Given the description of an element on the screen output the (x, y) to click on. 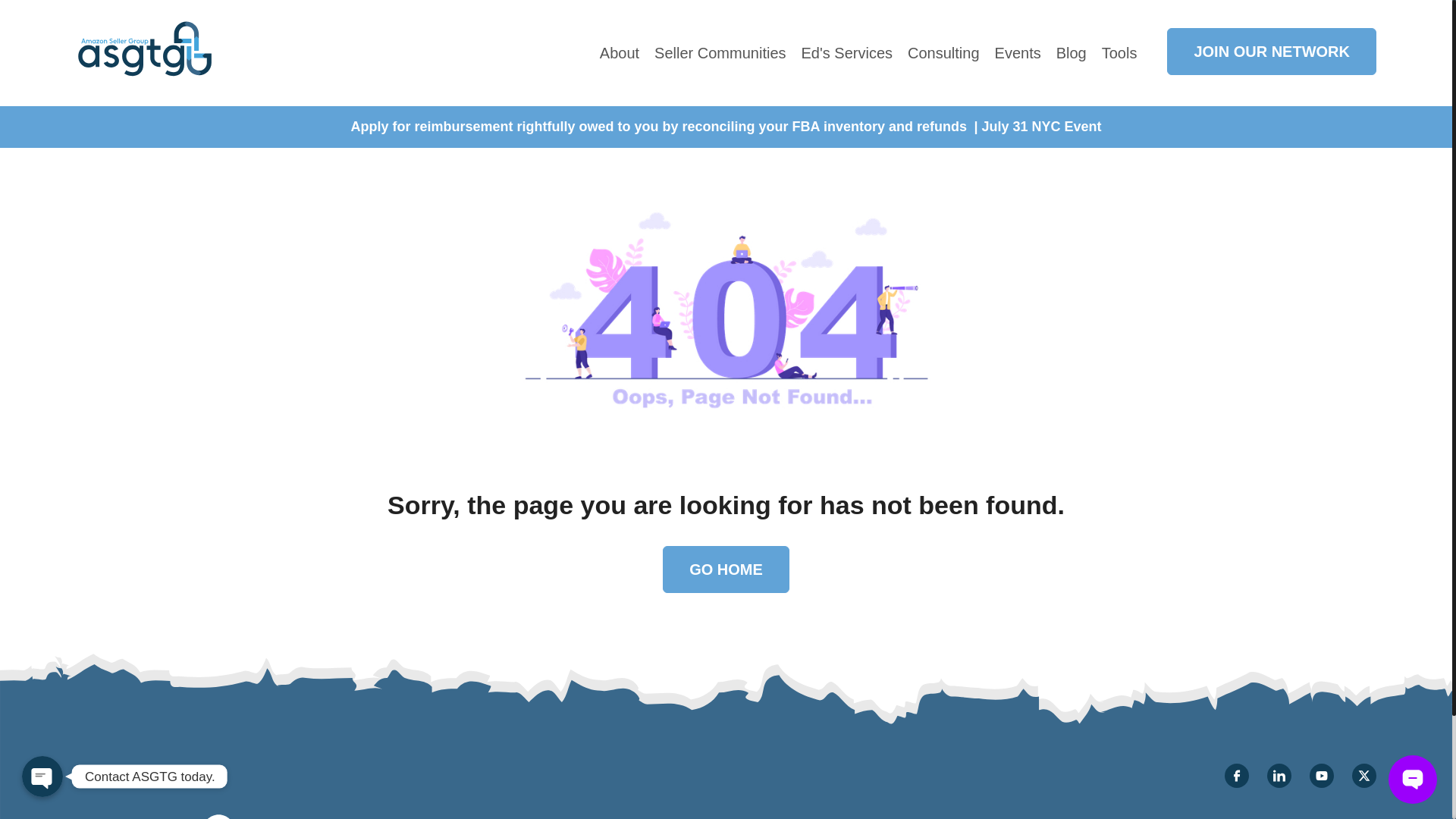
Consulting (943, 53)
Ed'S Services (846, 53)
About (619, 53)
Tools (1119, 53)
Events (1017, 53)
Seller Communities (719, 53)
